Given the description of an element on the screen output the (x, y) to click on. 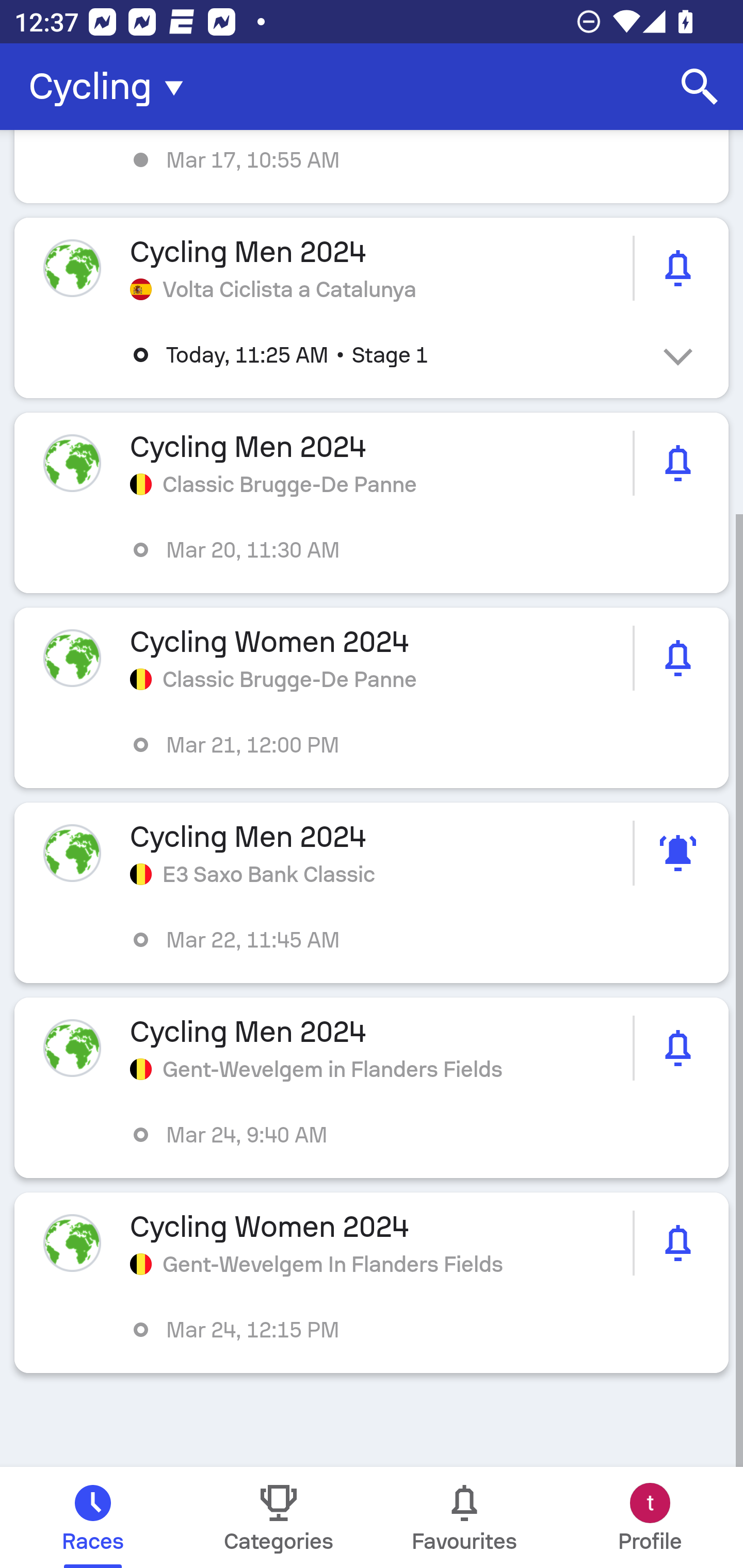
Cycling (111, 86)
Search (699, 86)
Today, 11:25 AM • Stage 1 (385, 355)
Categories (278, 1517)
Favourites (464, 1517)
Profile (650, 1517)
